Given the description of an element on the screen output the (x, y) to click on. 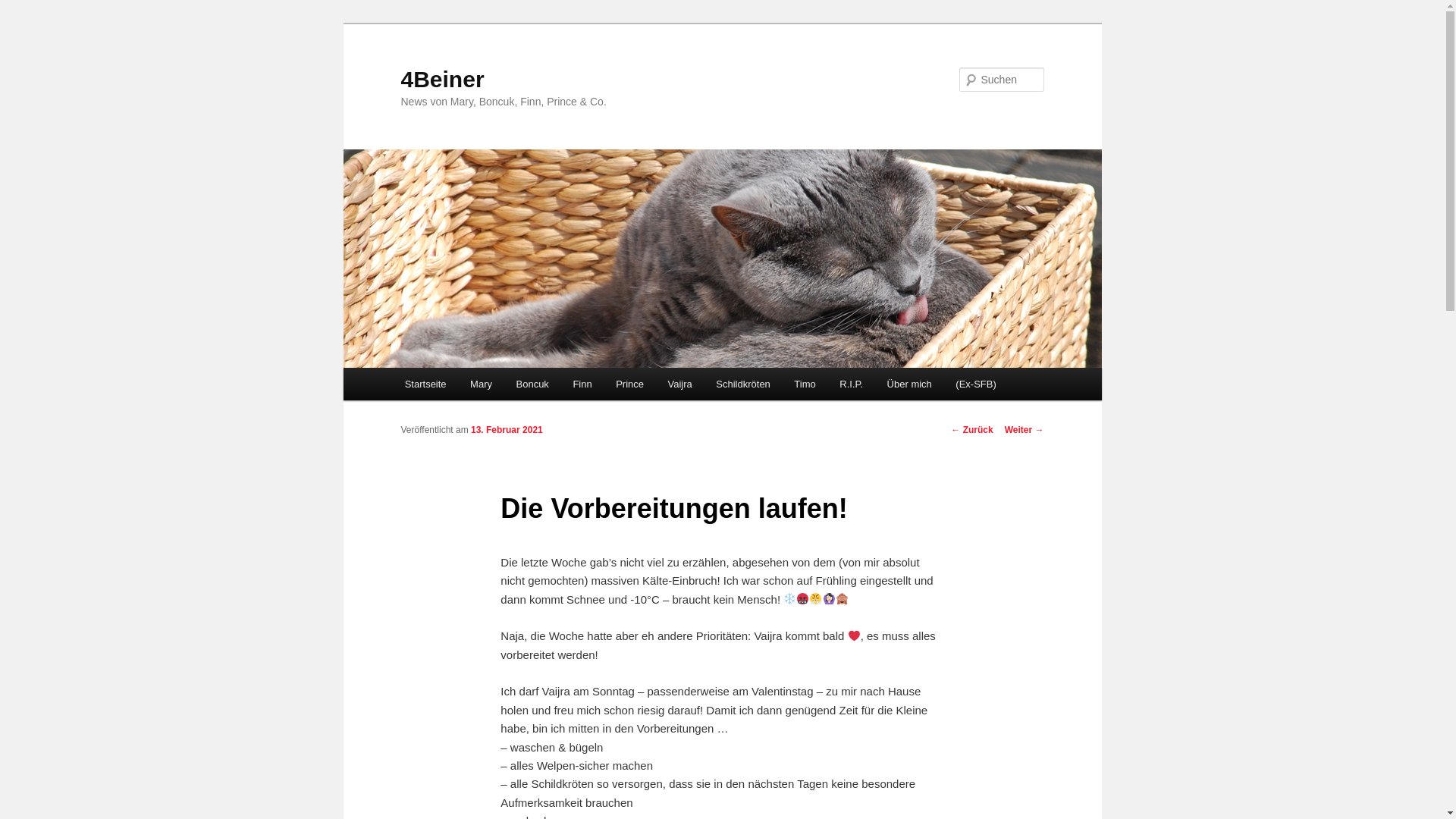
Startseite Element type: text (425, 383)
Vaijra Element type: text (679, 383)
Boncuk Element type: text (532, 383)
Timo Element type: text (805, 383)
13. Februar 2021 Element type: text (506, 429)
R.I.P. Element type: text (851, 383)
(Ex-SFB) Element type: text (976, 383)
Prince Element type: text (629, 383)
Mary Element type: text (480, 383)
4Beiner Element type: text (441, 78)
Zum Inhalt wechseln Element type: text (414, 367)
Finn Element type: text (582, 383)
Suchen Element type: text (25, 8)
